Given the description of an element on the screen output the (x, y) to click on. 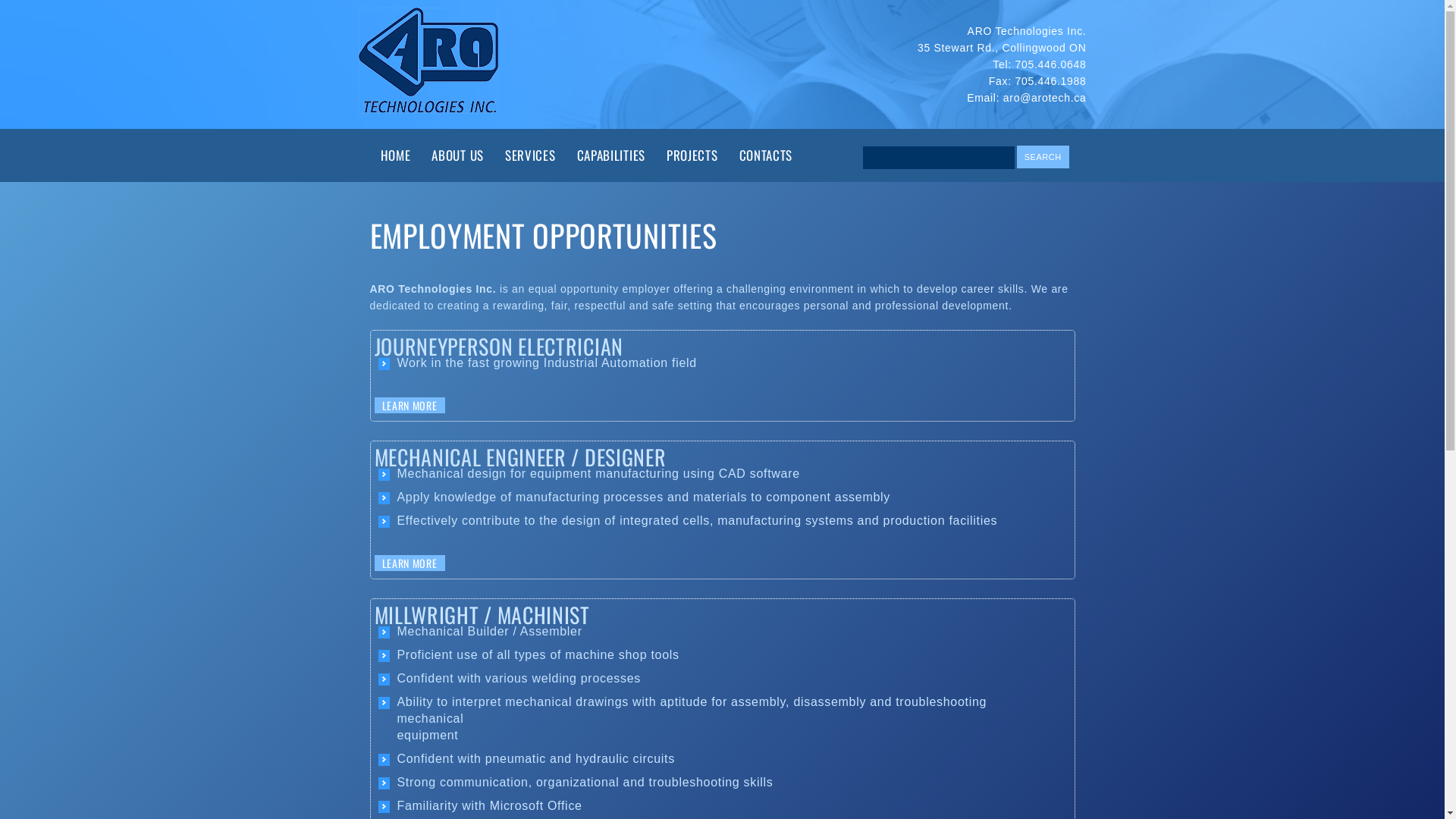
705.446.0648 Element type: text (1049, 64)
SEARCH Element type: text (1042, 156)
LEARN MORE Element type: text (409, 405)
HOME Element type: text (395, 155)
CONTACTS Element type: text (765, 155)
aro@arotech.ca Element type: text (1044, 97)
PROJECTS Element type: text (691, 155)
LEARN MORE Element type: text (409, 563)
ABOUT US Element type: text (457, 155)
CAPABILITIES Element type: text (610, 155)
SERVICES Element type: text (530, 155)
